Given the description of an element on the screen output the (x, y) to click on. 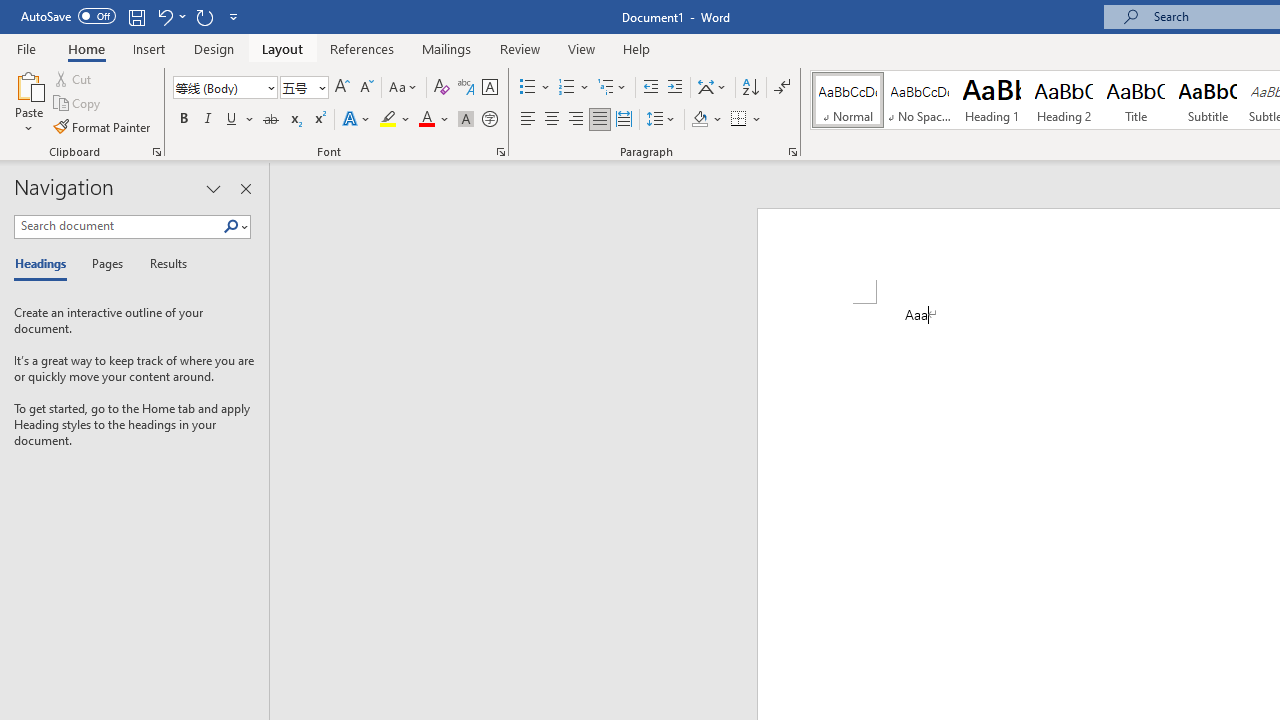
Phonetic Guide... (465, 87)
Character Border (489, 87)
Heading 1 (991, 100)
Office Clipboard... (156, 151)
Shading RGB(0, 0, 0) (699, 119)
Copy (78, 103)
Asian Layout (712, 87)
Text Highlight Color (395, 119)
Grow Font (342, 87)
Subtitle (1208, 100)
